Given the description of an element on the screen output the (x, y) to click on. 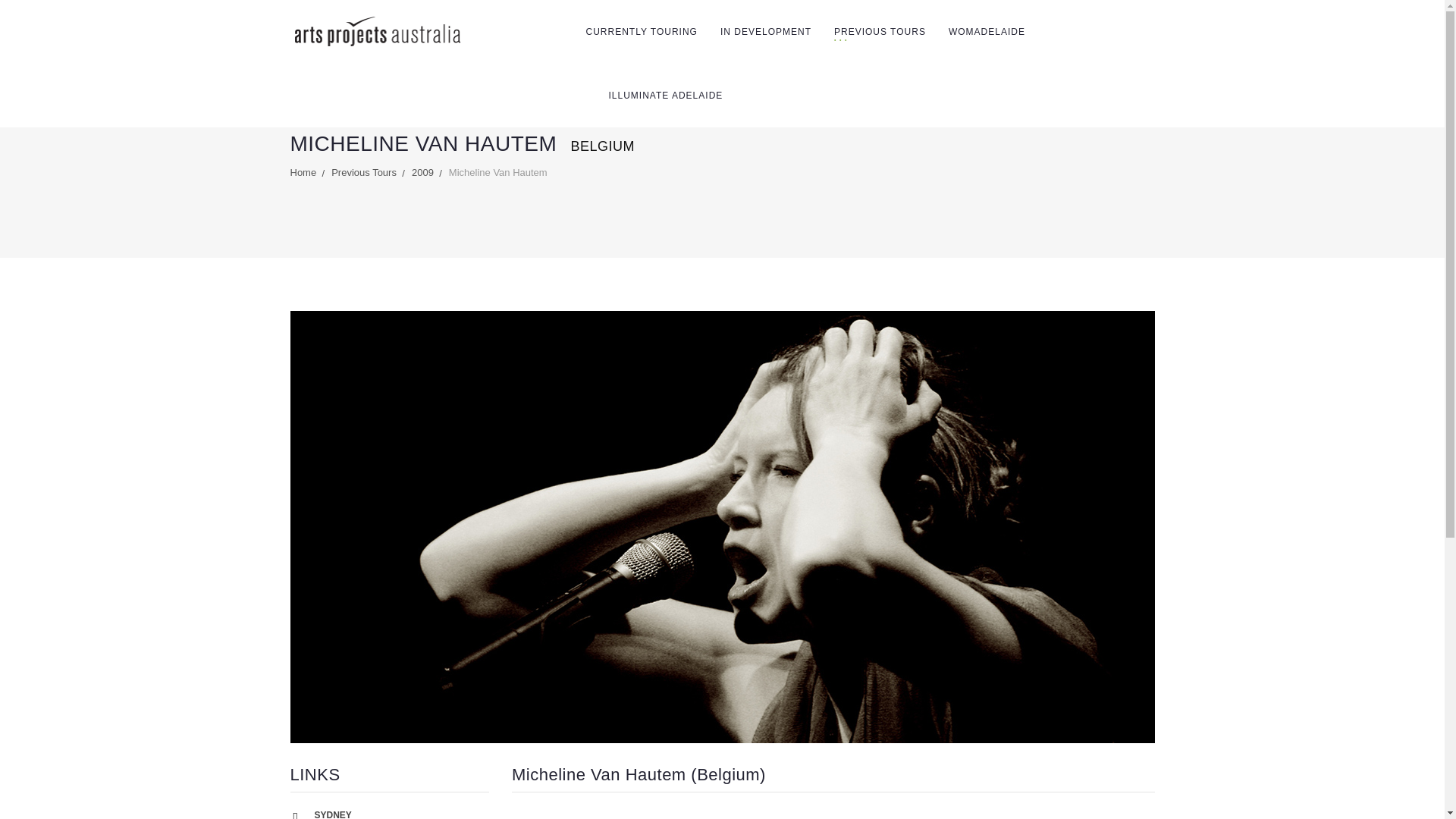
CURRENTLY TOURING (641, 31)
Previous Tours (363, 172)
IN DEVELOPMENT (765, 31)
WOMADELAIDE (987, 31)
Home (302, 172)
ILLUMINATE ADELAIDE (665, 95)
PREVIOUS TOURS (880, 31)
